Given the description of an element on the screen output the (x, y) to click on. 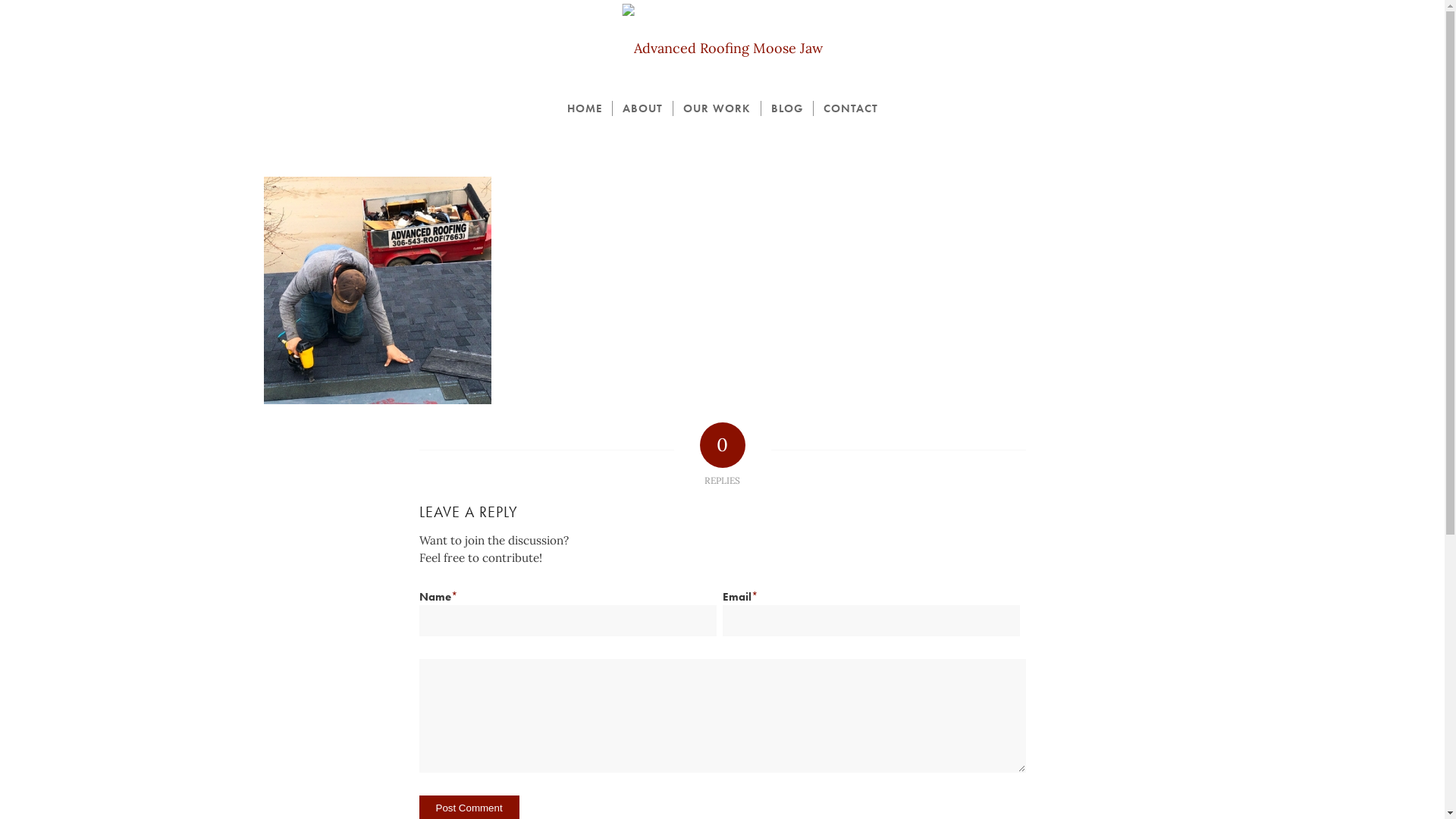
OUR WORK Element type: text (715, 108)
CONTACT Element type: text (850, 108)
ABOUT Element type: text (641, 108)
HOME Element type: text (583, 108)
BLOG Element type: text (785, 108)
